Given the description of an element on the screen output the (x, y) to click on. 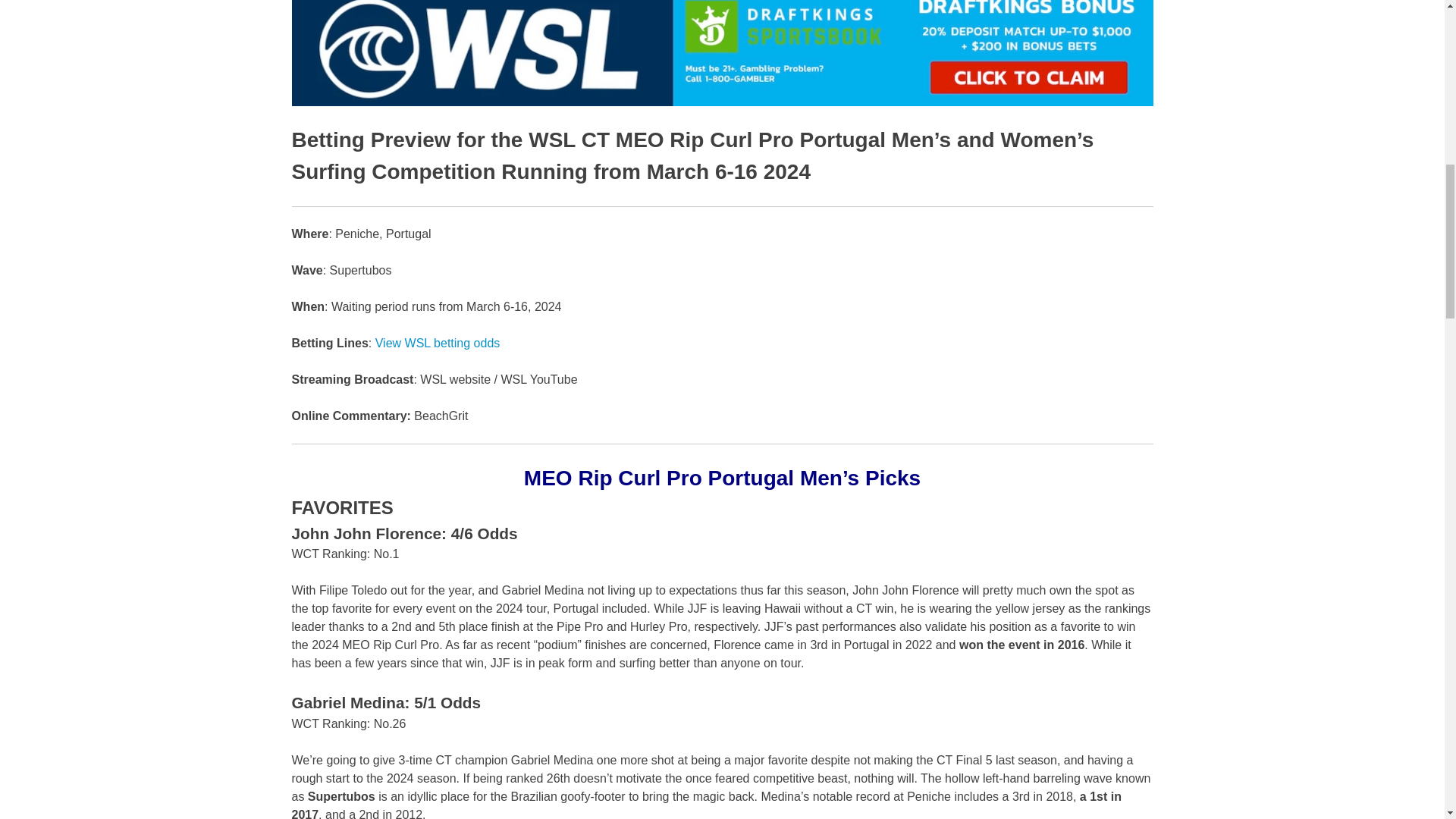
View WSL betting odds (437, 342)
